Given the description of an element on the screen output the (x, y) to click on. 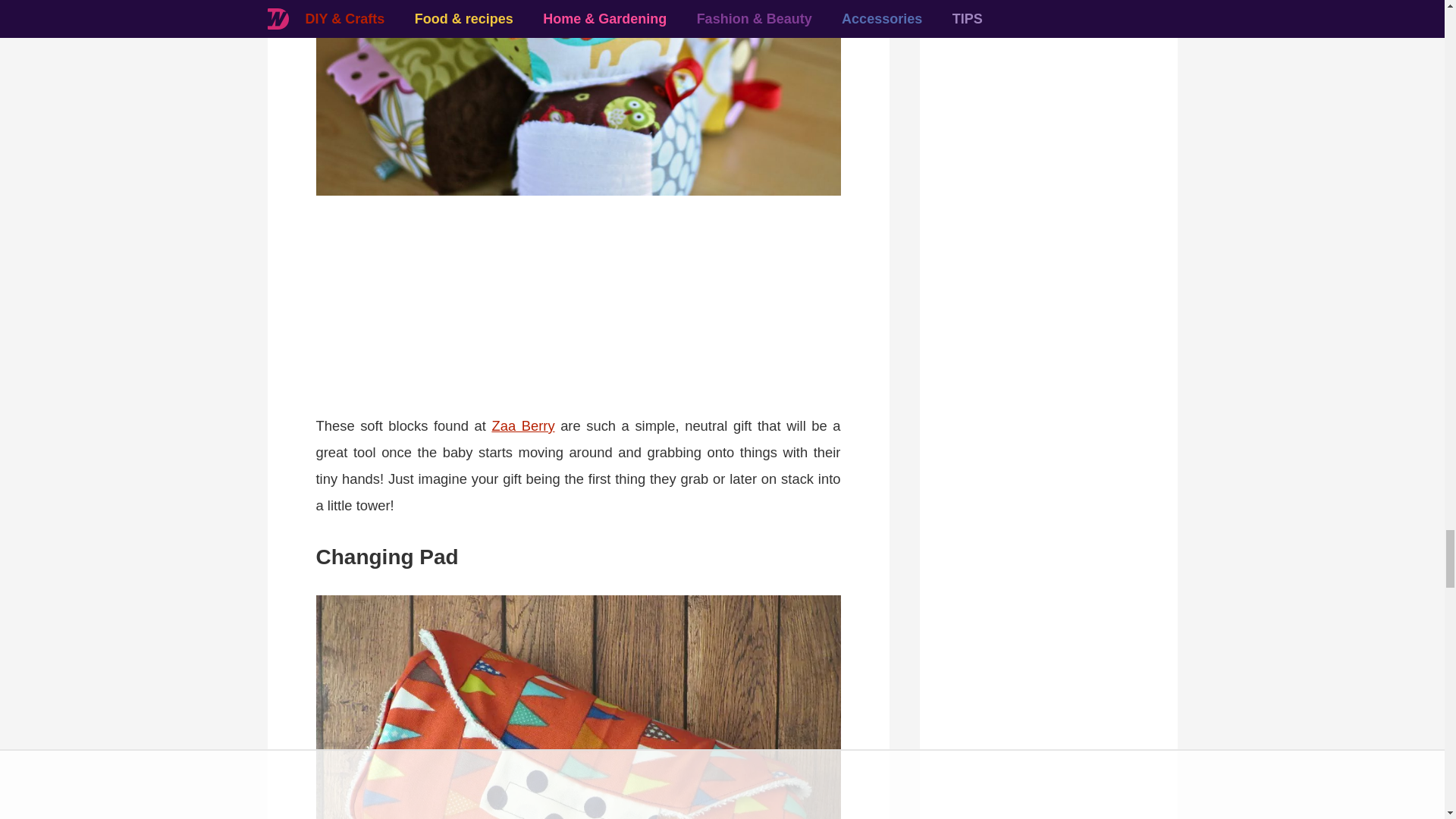
Zaa Berry (523, 425)
